Given the description of an element on the screen output the (x, y) to click on. 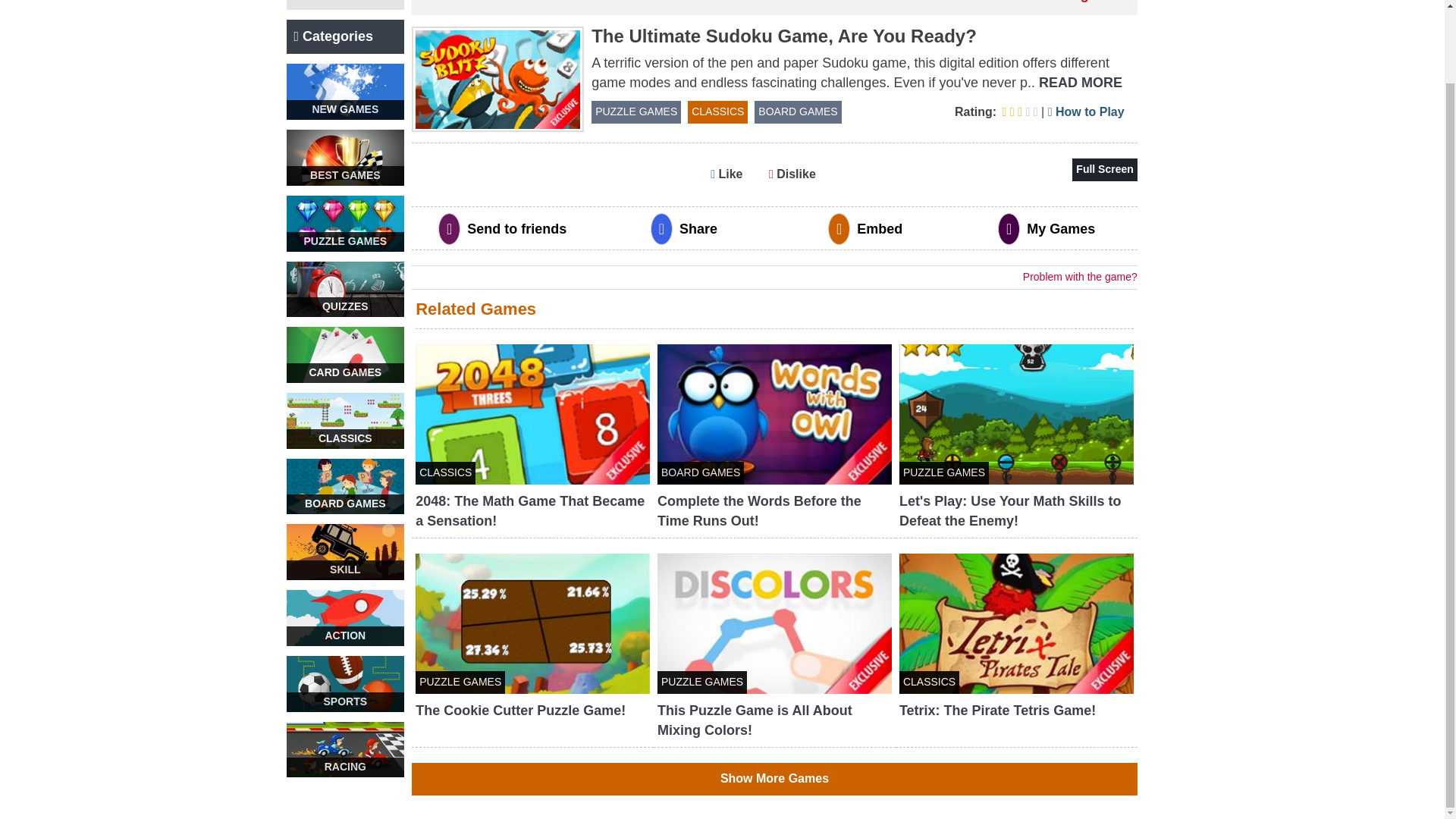
Categories (345, 36)
BOARD GAMES (345, 486)
My Games (345, 4)
PUZZLE GAMES (345, 223)
NEW GAMES (345, 91)
CARD GAMES (345, 354)
Rate: 2.5 (998, 111)
CLASSICS (345, 420)
QUIZZES (345, 289)
BEST GAMES (345, 157)
